Given the description of an element on the screen output the (x, y) to click on. 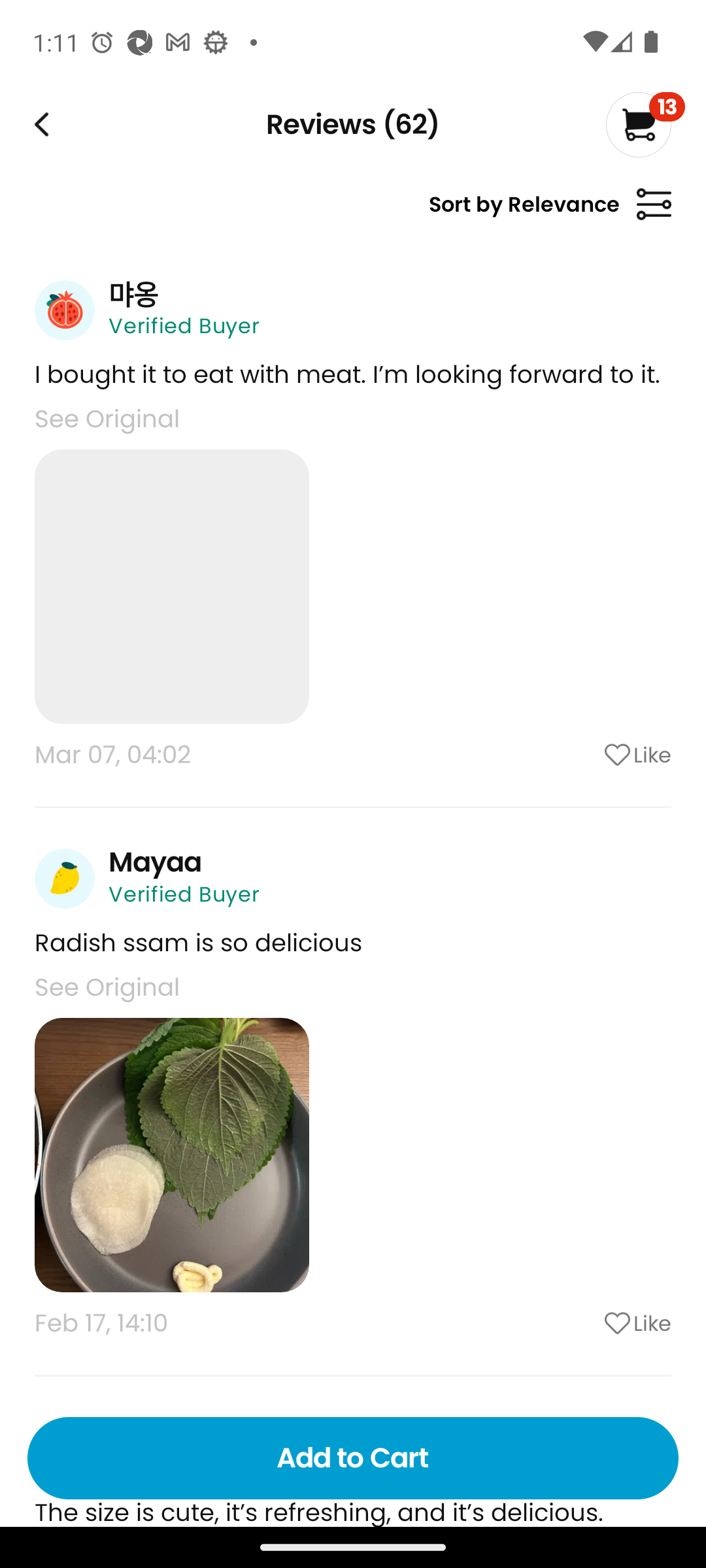
13 (644, 124)
Sort by Relevance (549, 212)
먀옹 (133, 293)
Verified Buyer (183, 325)
See Original (107, 418)
Like (585, 754)
Mayaa (154, 862)
Verified Buyer (183, 894)
See Original (107, 986)
Like (585, 1323)
Add to Cart (352, 1458)
